Given the description of an element on the screen output the (x, y) to click on. 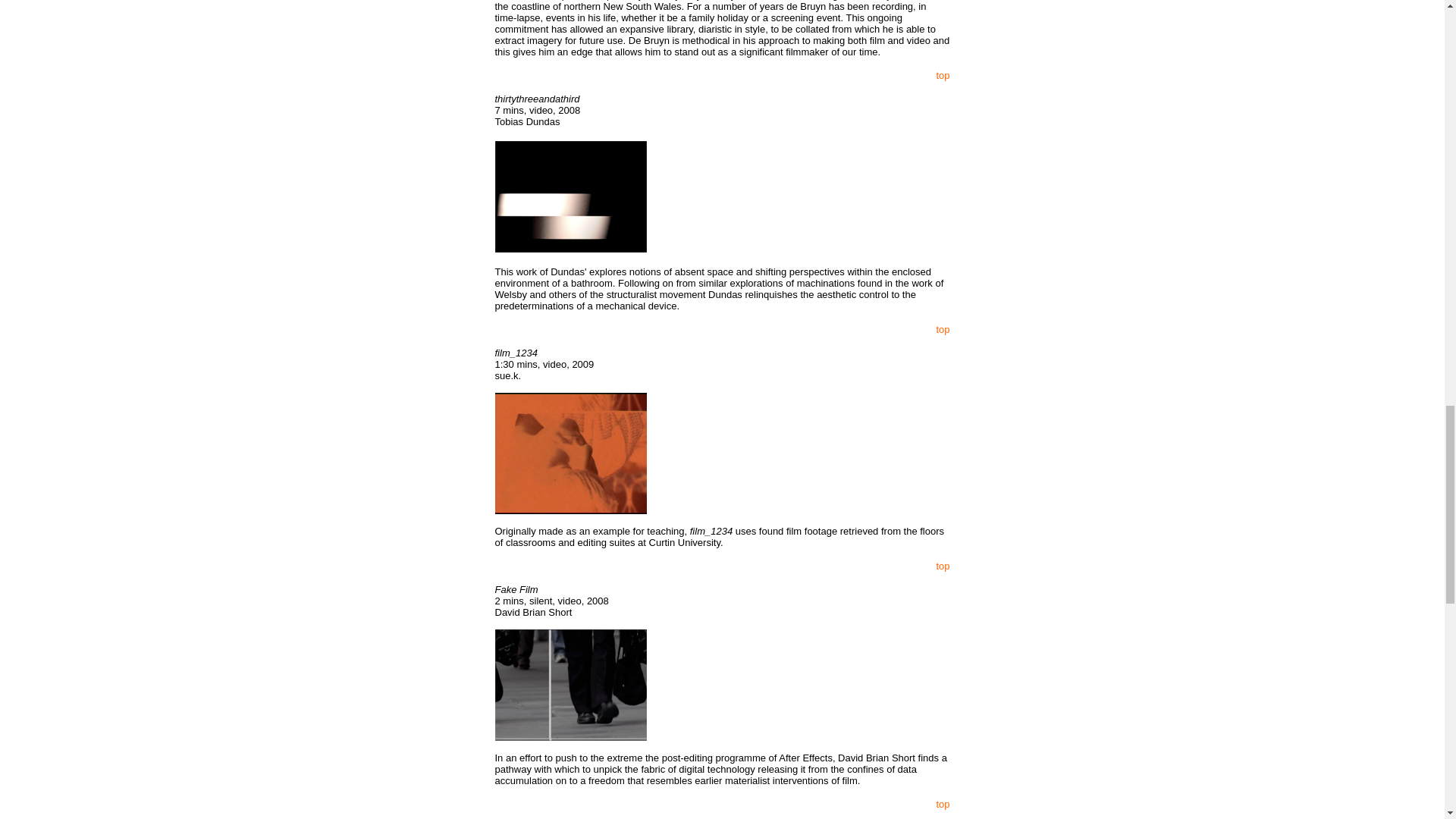
top (942, 328)
top (942, 75)
top (942, 803)
top (942, 565)
